Given the description of an element on the screen output the (x, y) to click on. 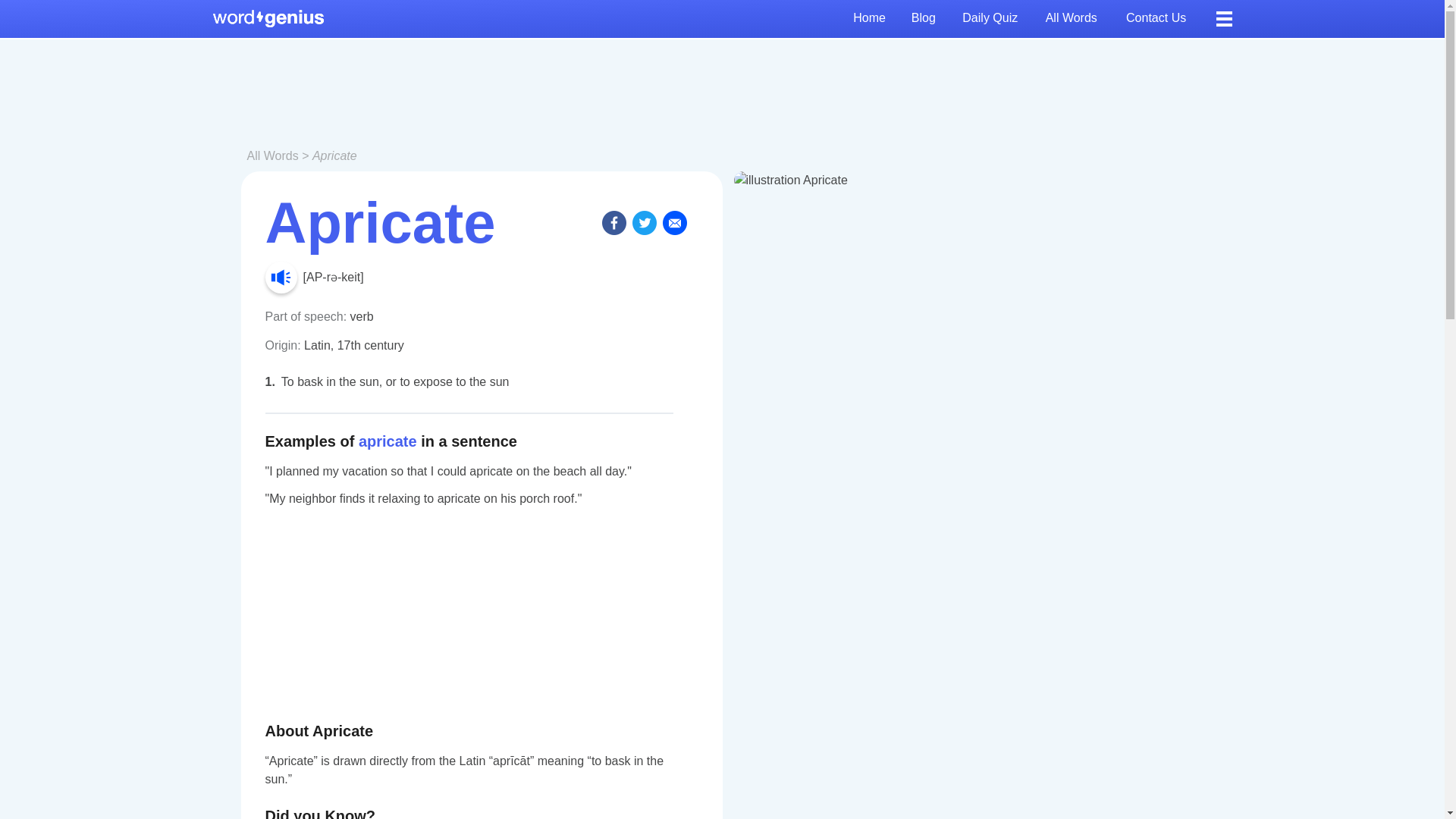
Daily Quiz (991, 18)
Contact Us (1157, 18)
All Words (1073, 18)
All Words (272, 155)
twitter (643, 222)
